Given the description of an element on the screen output the (x, y) to click on. 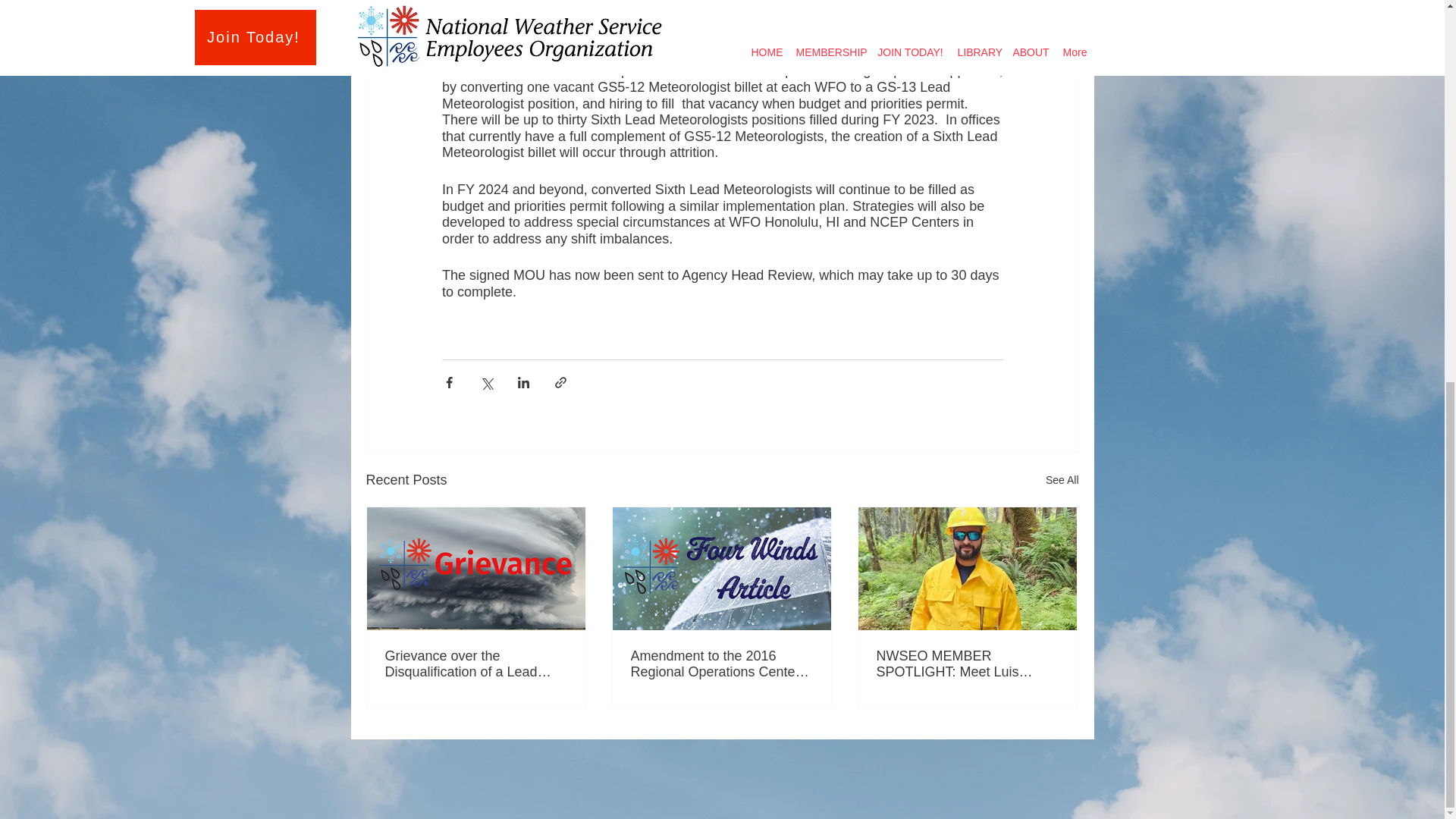
NWSEO MEMBER SPOTLIGHT: Meet Luis Ingram-Westover (967, 664)
See All (1061, 480)
